Given the description of an element on the screen output the (x, y) to click on. 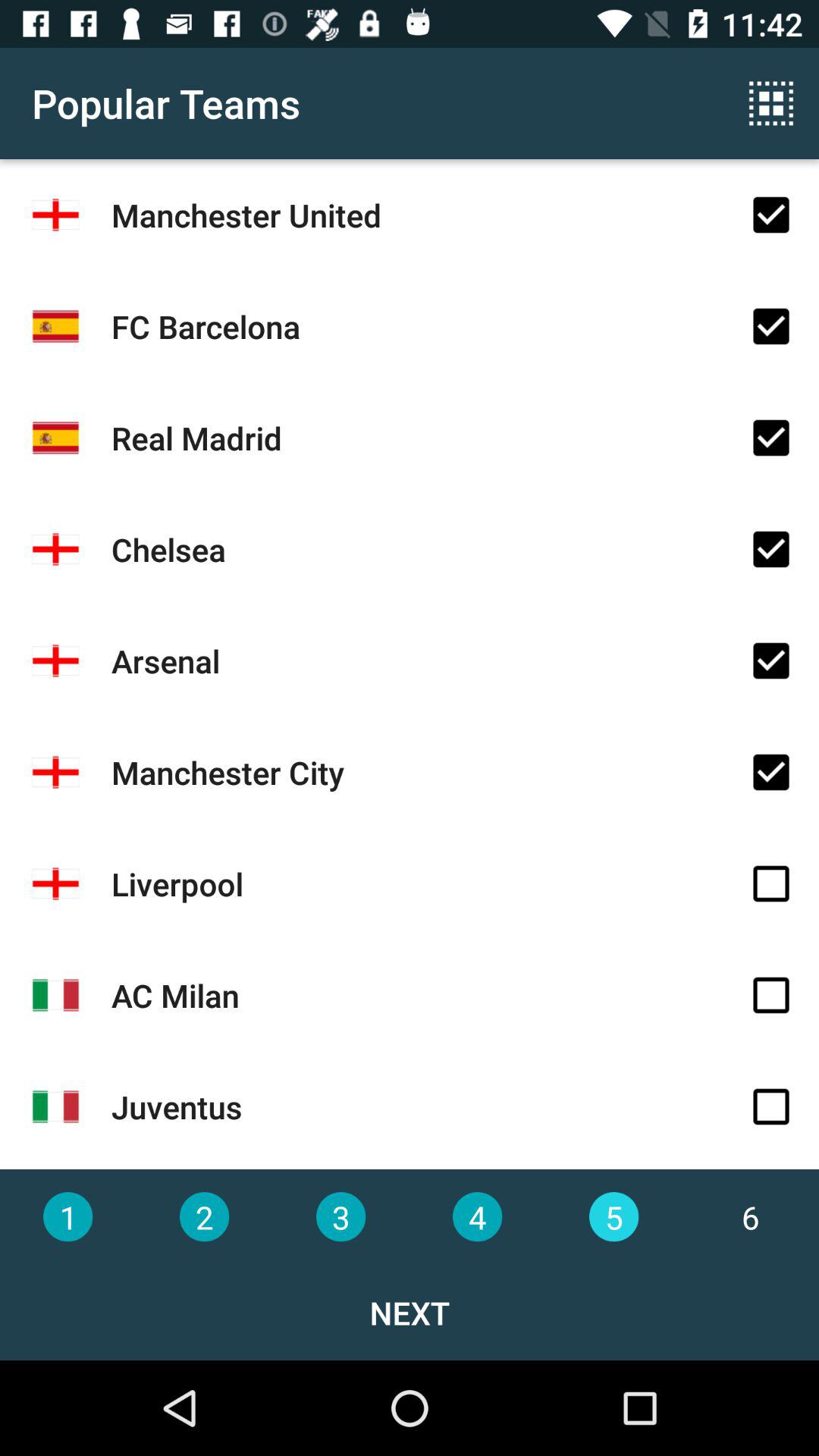
click the icon to the right of the popular teams item (771, 103)
